Given the description of an element on the screen output the (x, y) to click on. 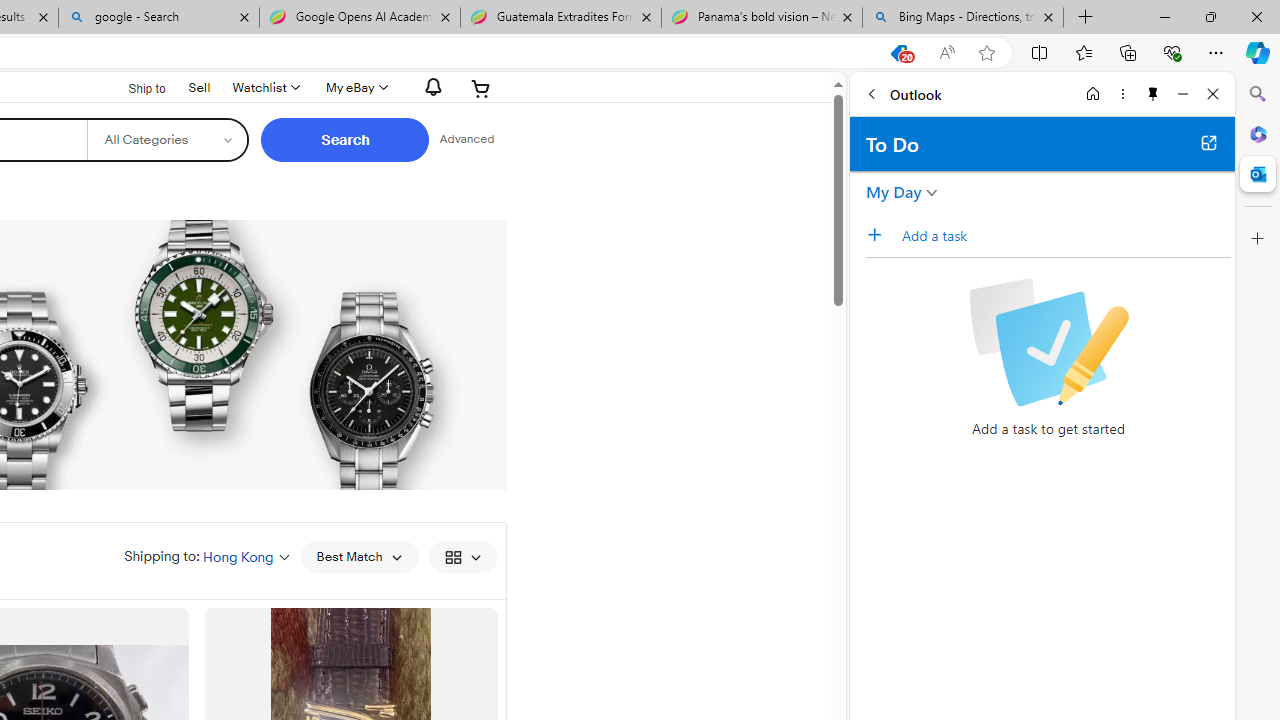
My Day (893, 191)
This site has coupons! Shopping in Microsoft Edge, 20 (898, 53)
Add a task (1065, 235)
Ship to (134, 89)
Advanced Search (466, 139)
WatchlistExpand Watch List (264, 88)
Unpin side pane (1153, 93)
Sell (199, 86)
Open in new tab (1208, 142)
